Given the description of an element on the screen output the (x, y) to click on. 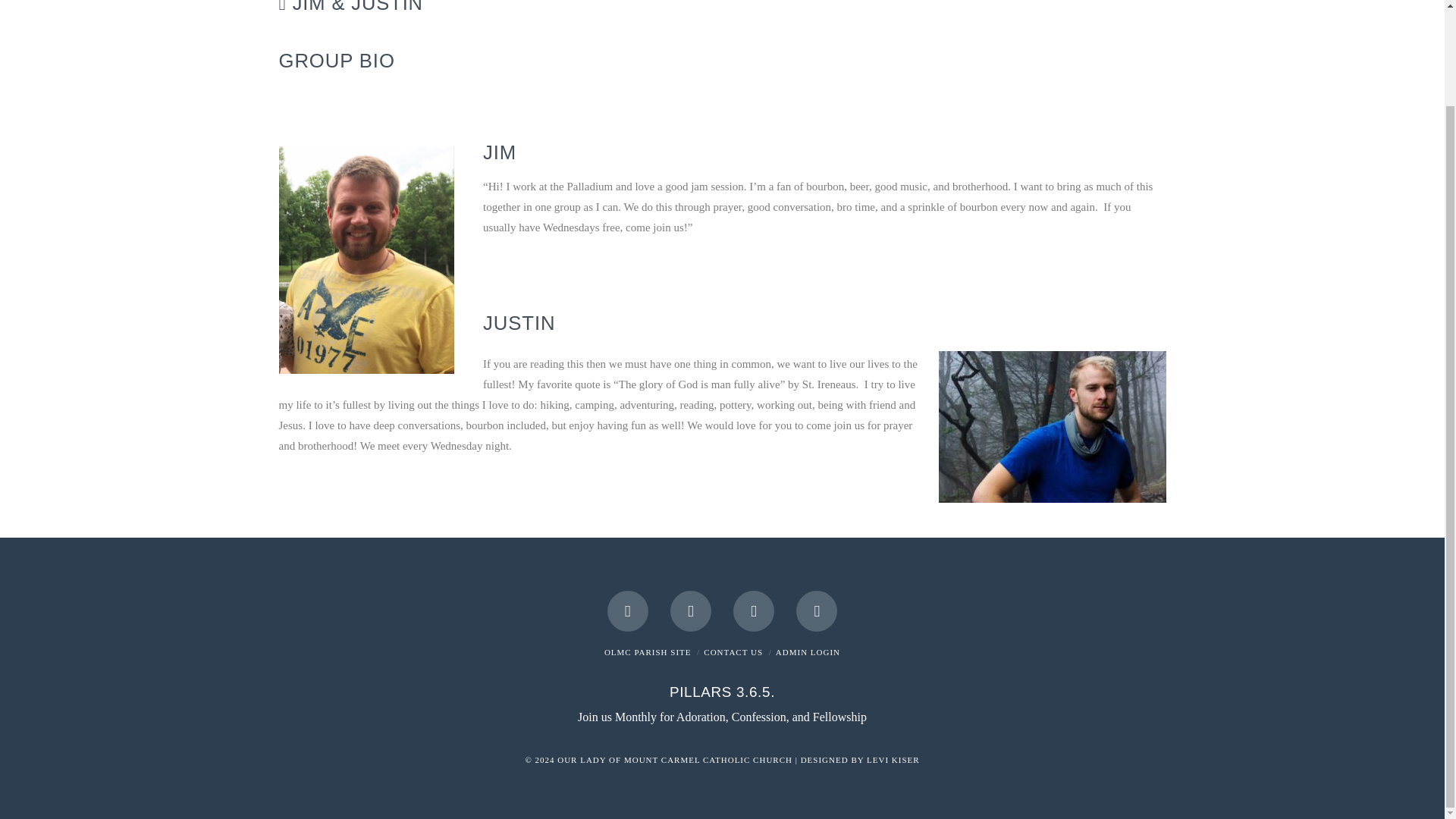
ADMIN LOGIN (808, 651)
Join us Monthly for Adoration, Confession, and Fellowship (722, 716)
CONTACT US (732, 651)
Instagram (753, 610)
PILLARS 3.6.5. (721, 691)
OLMC PARISH SITE (647, 651)
Facebook (627, 610)
Flickr (816, 610)
